Given the description of an element on the screen output the (x, y) to click on. 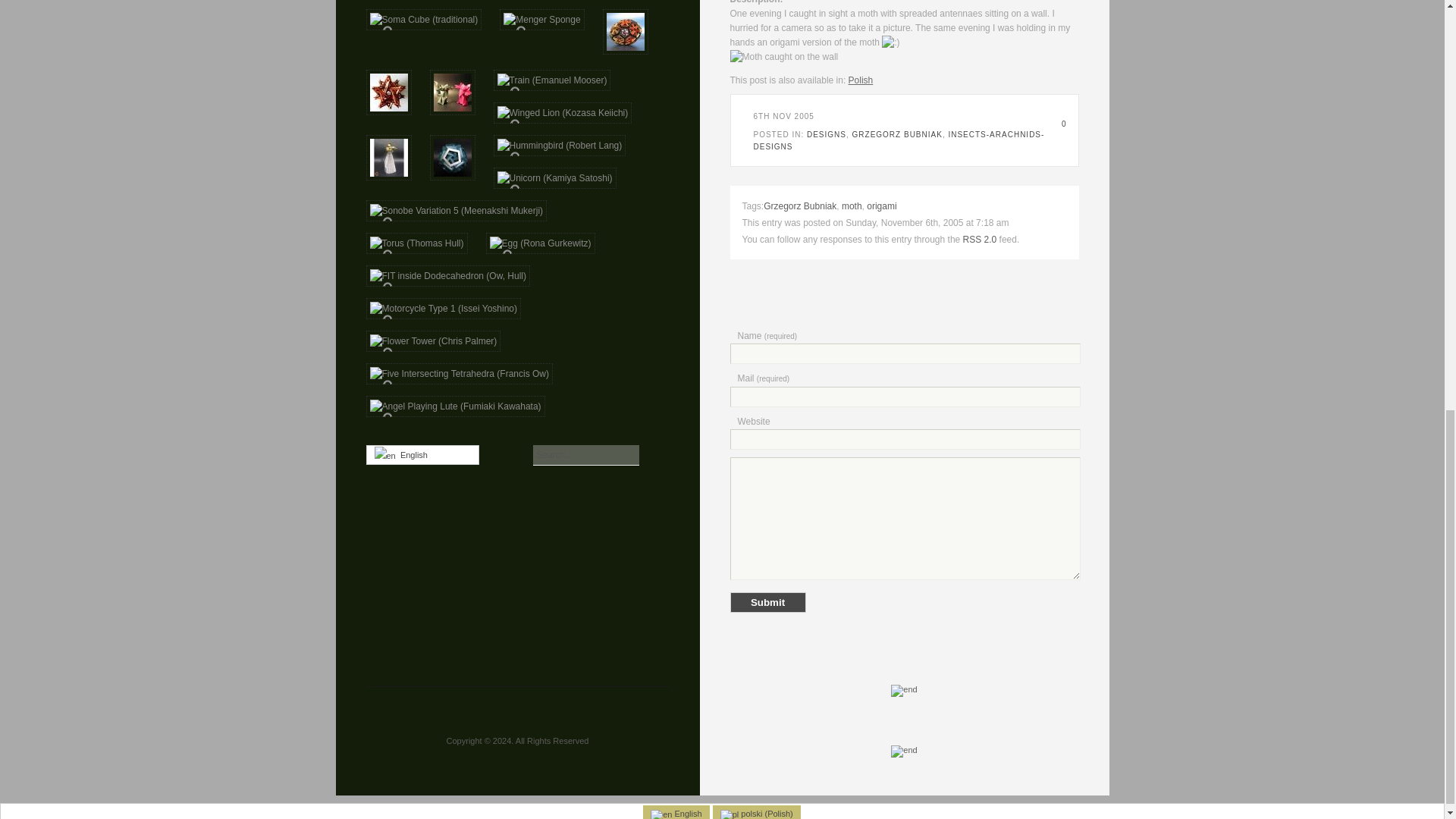
View all posts in Grzegorz Bubniak (896, 134)
View all posts in Designs (825, 134)
Comment on Moth (1058, 123)
Moth caught on the wall (783, 56)
View all posts in Insects-Arachnids-designs (899, 140)
Search.. (585, 455)
Submit (767, 602)
